Given the description of an element on the screen output the (x, y) to click on. 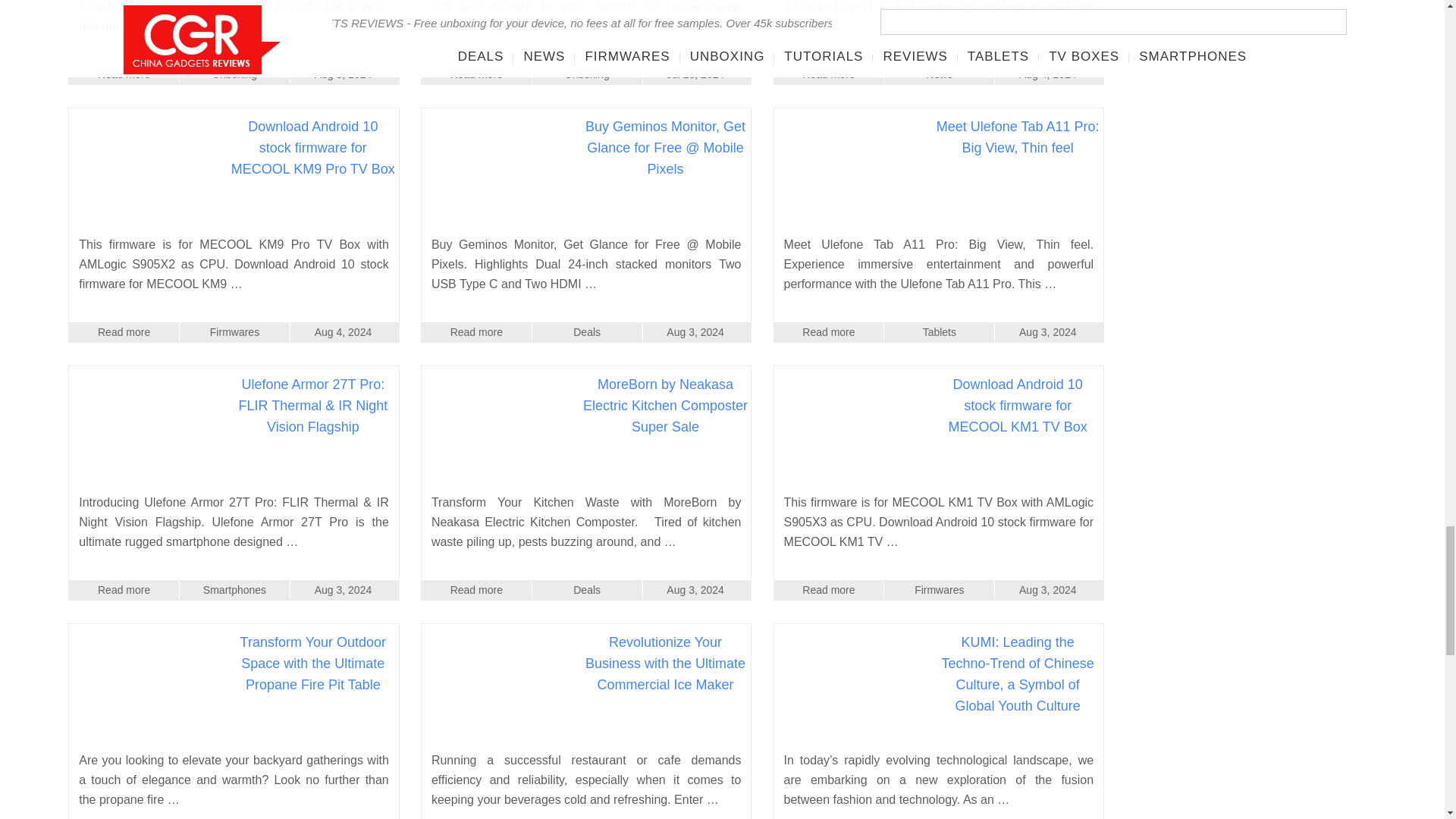
Read more (123, 74)
Read more (476, 74)
Unboxing (234, 74)
